Given the description of an element on the screen output the (x, y) to click on. 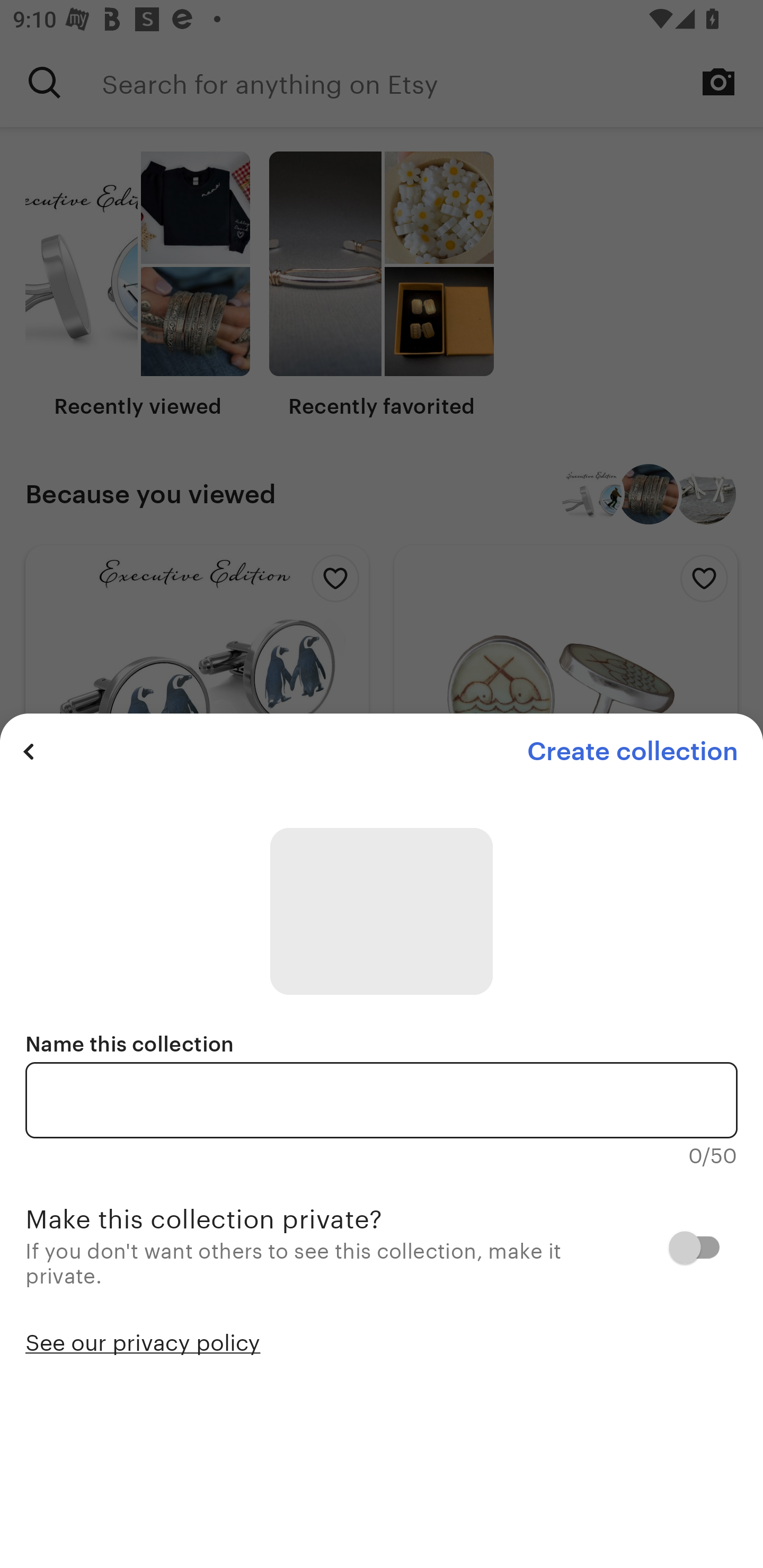
Previous (28, 751)
Create collection (632, 751)
See our privacy policy (142, 1341)
